Given the description of an element on the screen output the (x, y) to click on. 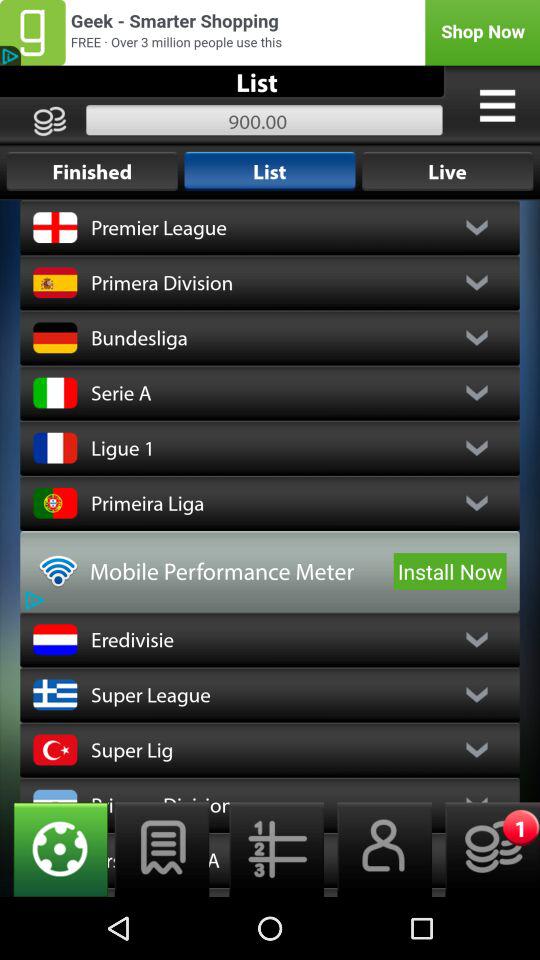
shopping option (270, 32)
